Given the description of an element on the screen output the (x, y) to click on. 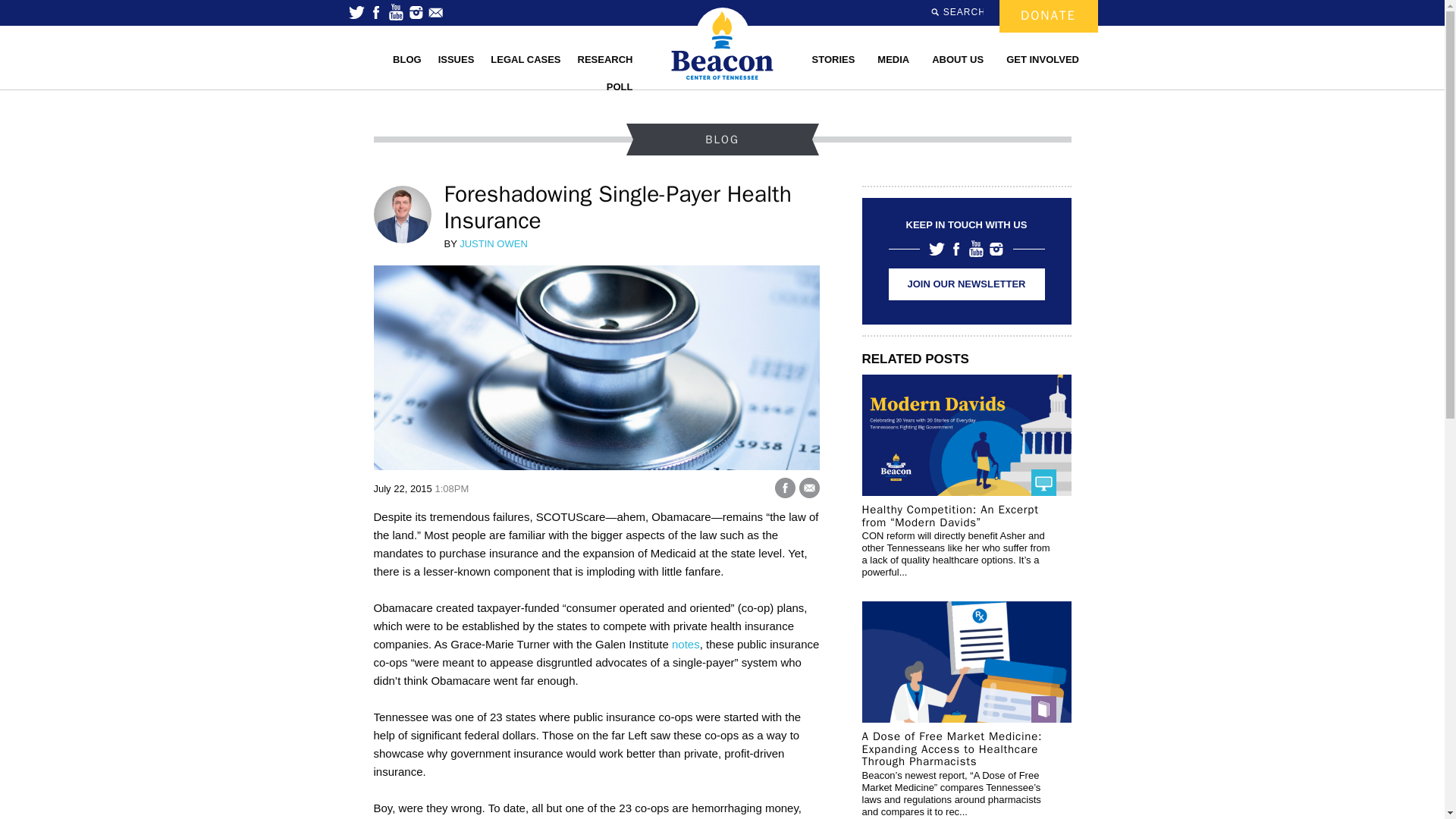
GET INVOLVED (1042, 59)
MEDIA (892, 59)
LEGAL CASES (525, 59)
DONATE (1047, 16)
BLOG (407, 59)
STORIES (832, 59)
ISSUES (456, 59)
ABOUT US (958, 59)
POLL (619, 86)
RESEARCH (605, 59)
